Given the description of an element on the screen output the (x, y) to click on. 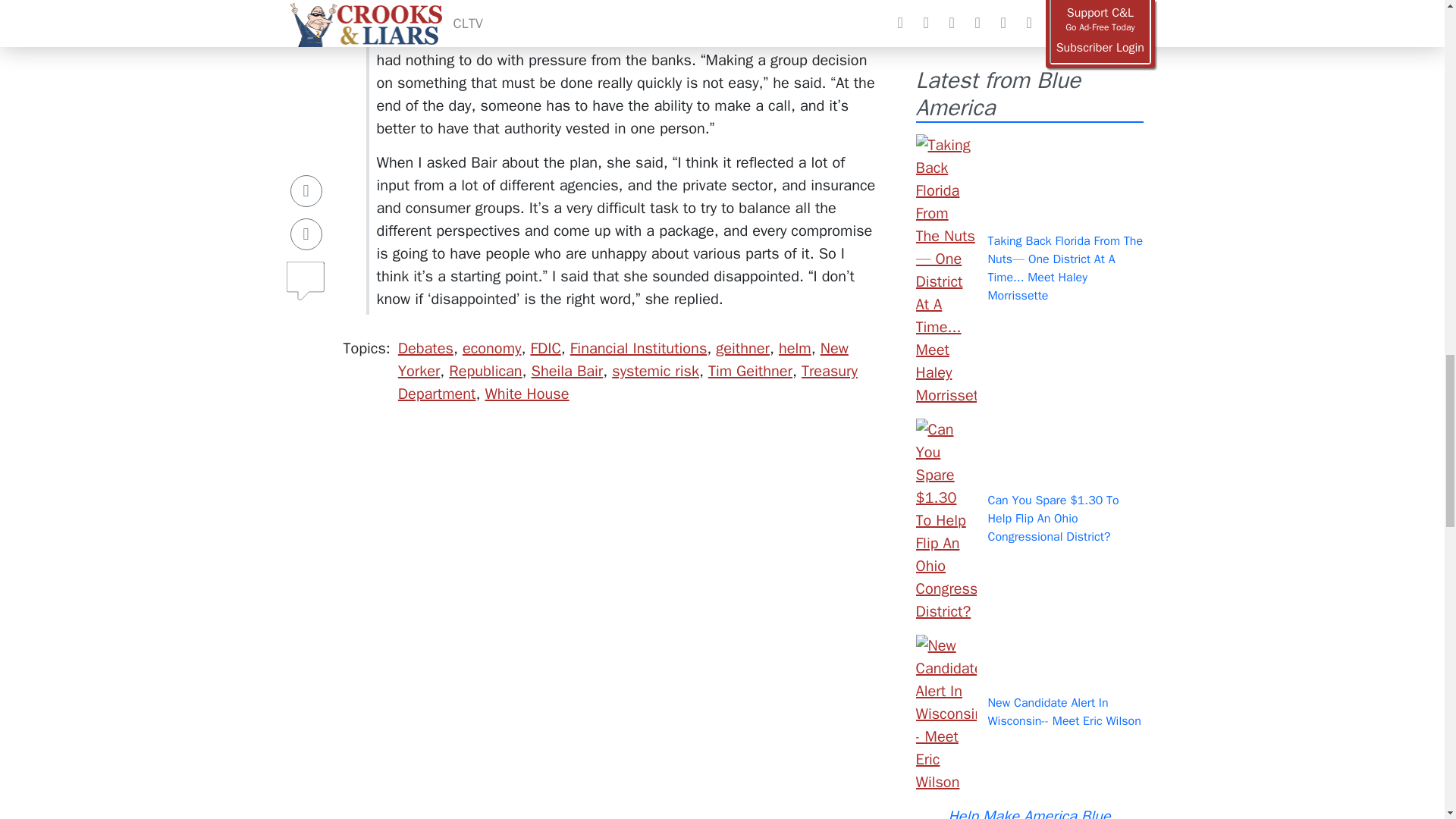
FDIC (544, 348)
geithner (743, 348)
economy (492, 348)
New Yorker (622, 359)
helm (794, 348)
Financial Institutions (638, 348)
Debates (424, 348)
